Given the description of an element on the screen output the (x, y) to click on. 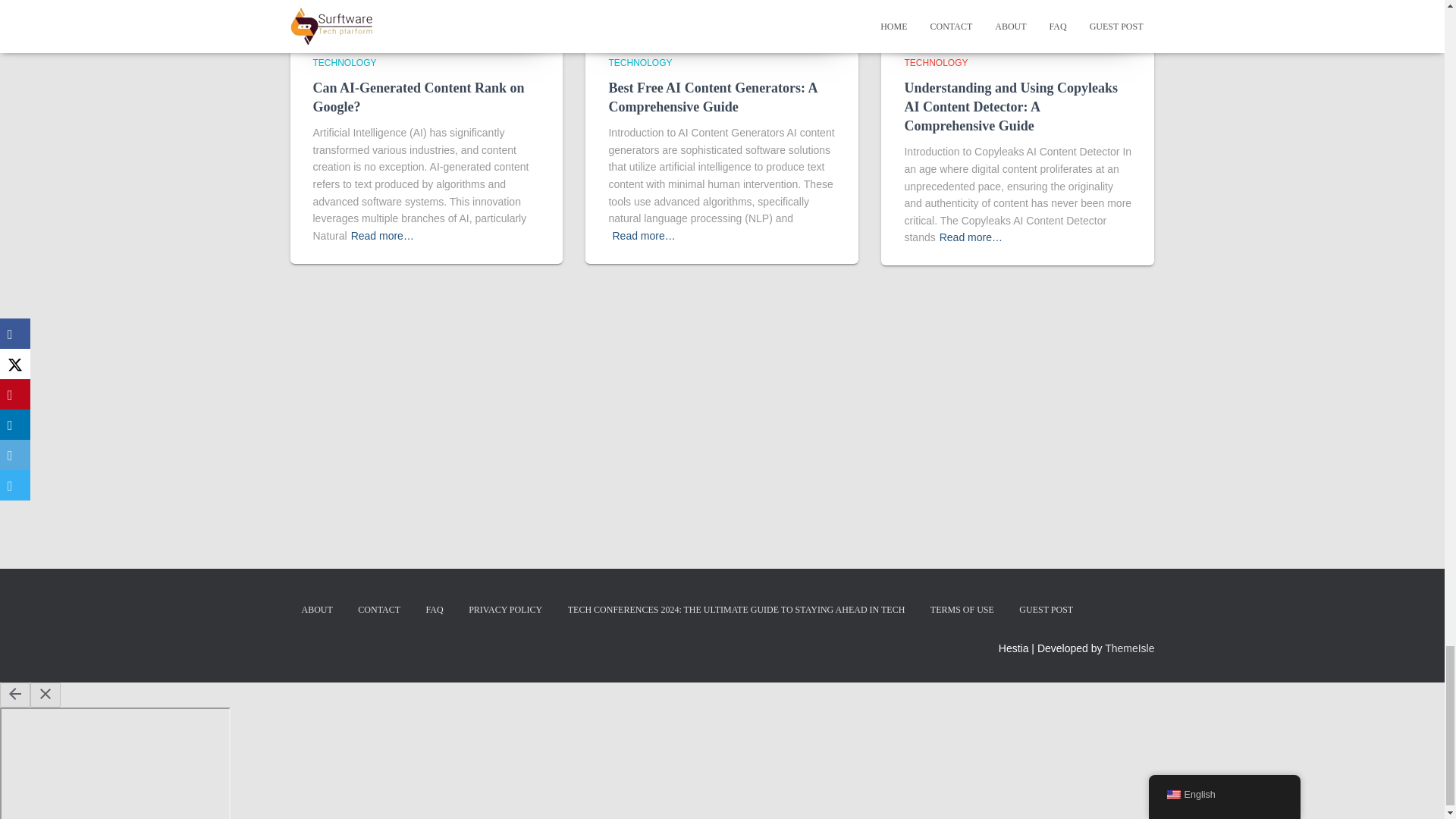
TECHNOLOGY (344, 62)
Can AI-Generated Content Rank on Google? (418, 97)
